Given the description of an element on the screen output the (x, y) to click on. 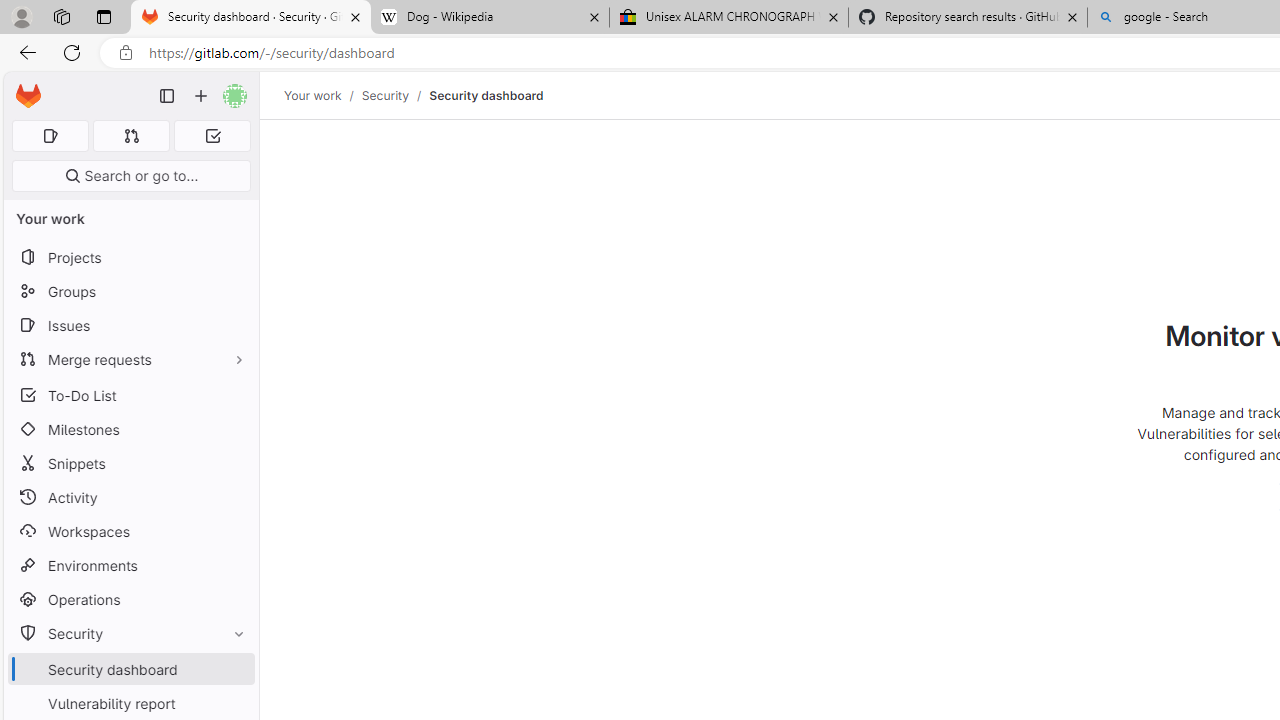
Primary navigation sidebar (167, 96)
Merge requests 0 (131, 136)
To-Do List (130, 394)
Environments (130, 564)
Security dashboard (486, 95)
Vulnerability report (130, 703)
Create new... (201, 96)
Projects (130, 257)
Issues (130, 325)
Dog - Wikipedia (490, 17)
Security (384, 95)
Snippets (130, 463)
